Given the description of an element on the screen output the (x, y) to click on. 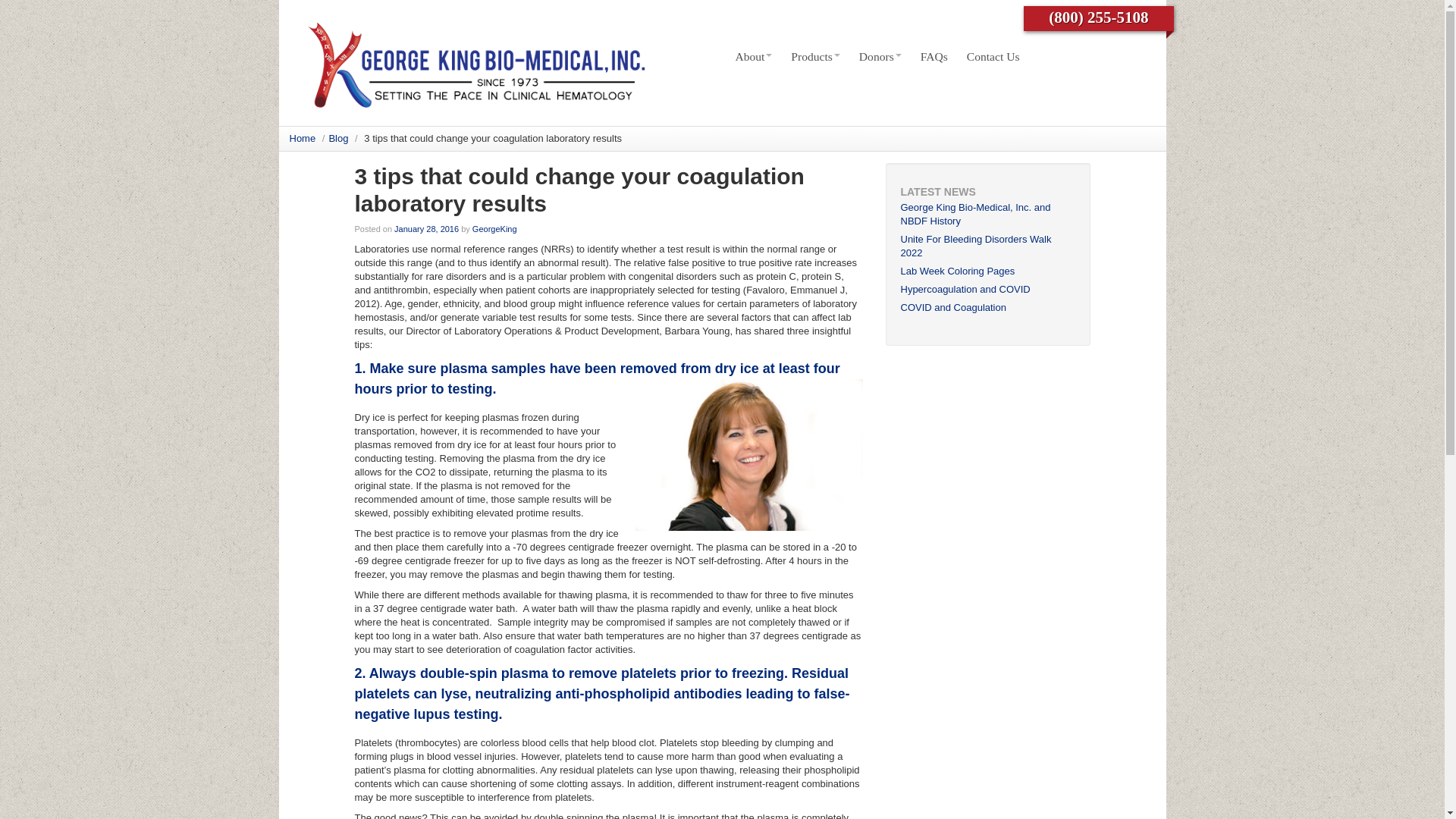
phone (1098, 17)
Products (815, 56)
10:26 pm (426, 228)
About (753, 56)
Donors (879, 56)
View all posts by GeorgeKing (493, 228)
